Given the description of an element on the screen output the (x, y) to click on. 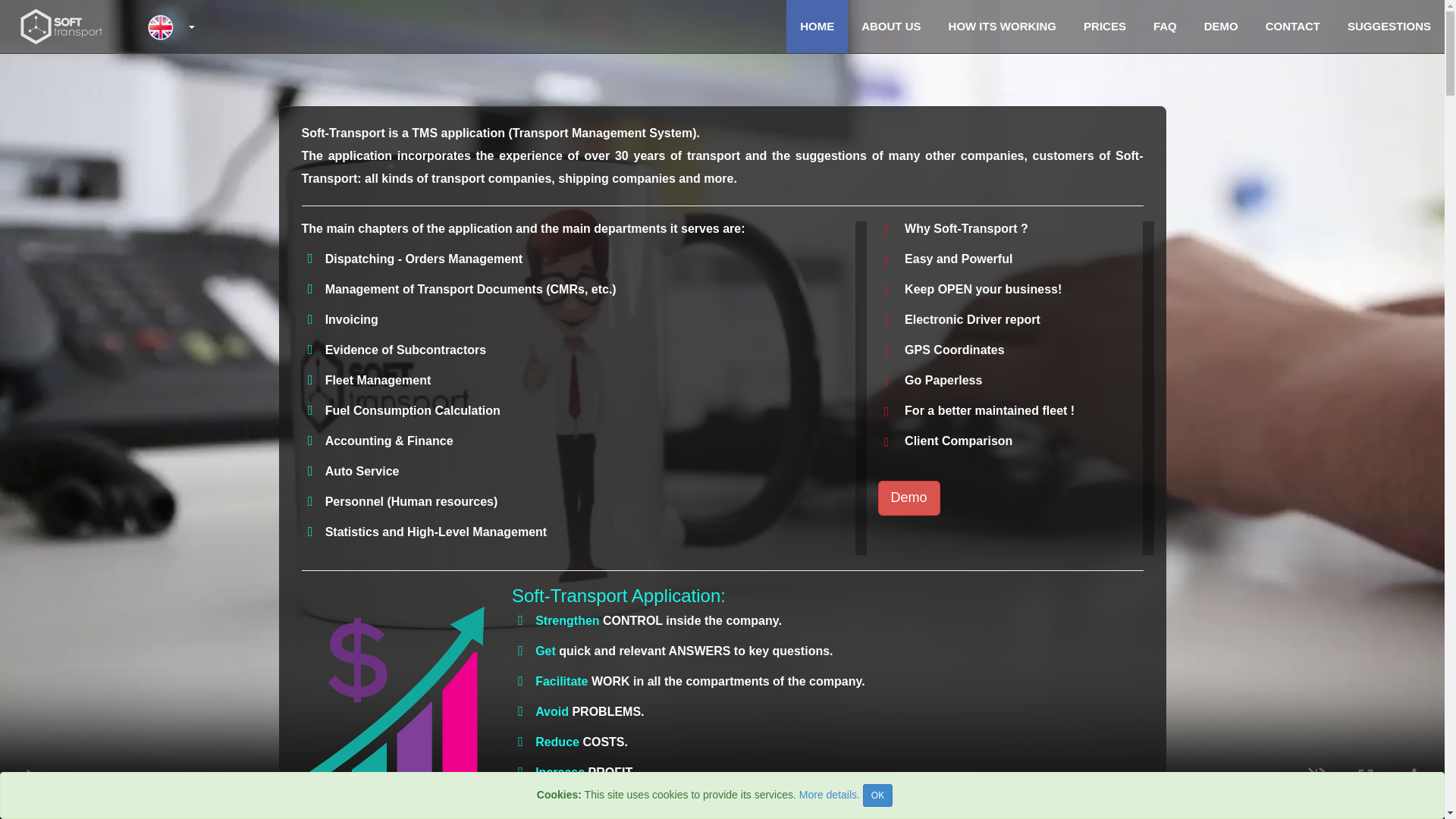
HOW ITS WORKING (1002, 26)
Auto Service (361, 471)
Evidence of Subcontractors (405, 349)
Keep OPEN your business! (969, 288)
PRICES (1105, 26)
Electronic Driver report (959, 318)
Why Soft-Transport ? (965, 228)
GPS Coordinates (940, 349)
Demo (908, 497)
HOME (816, 26)
Fleet Management (377, 379)
Fuel Consumption Calculation (412, 410)
For a better maintained fleet ! (976, 410)
ABOUT US (890, 26)
